Given the description of an element on the screen output the (x, y) to click on. 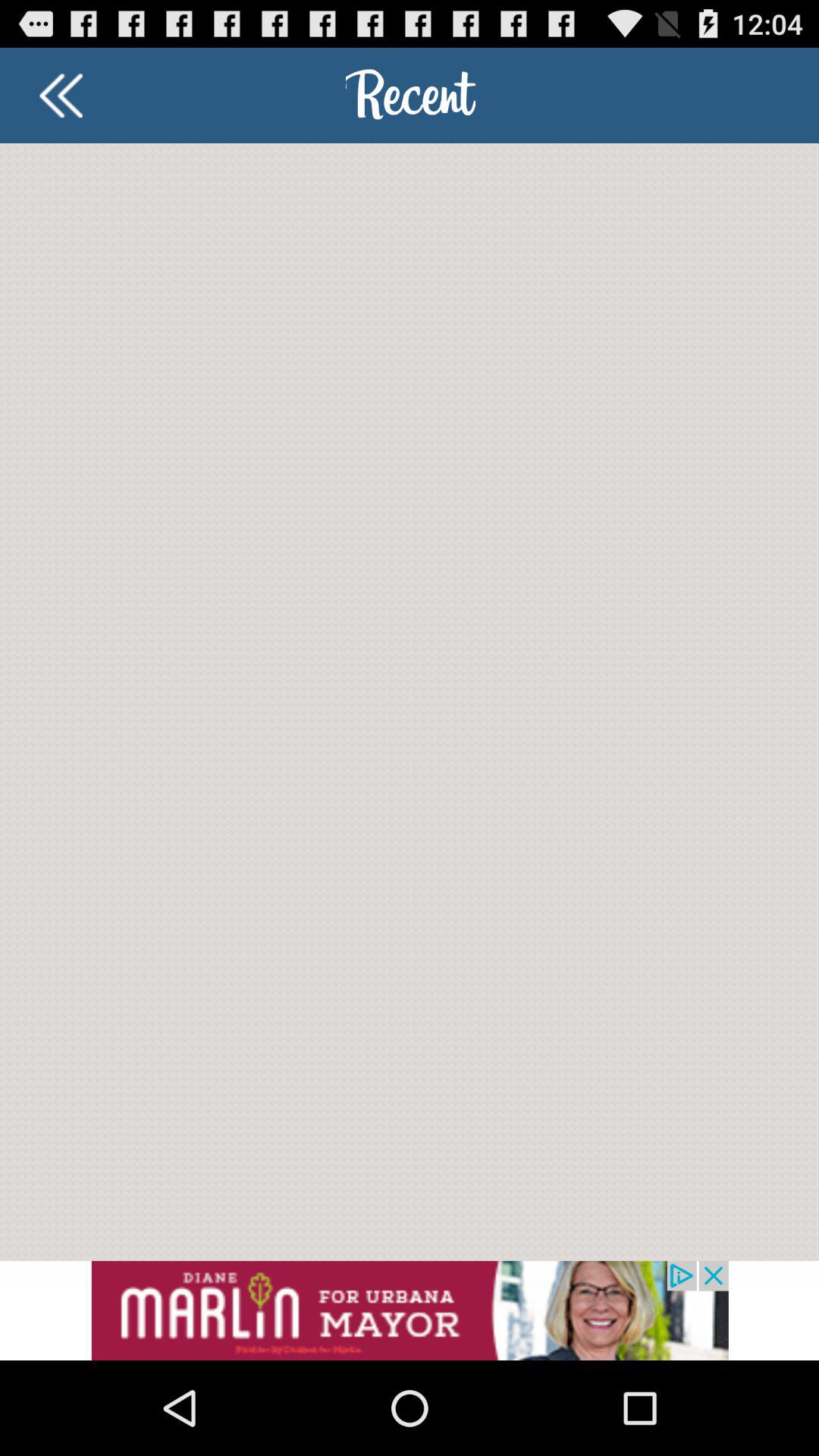
advertisement (409, 1310)
